Given the description of an element on the screen output the (x, y) to click on. 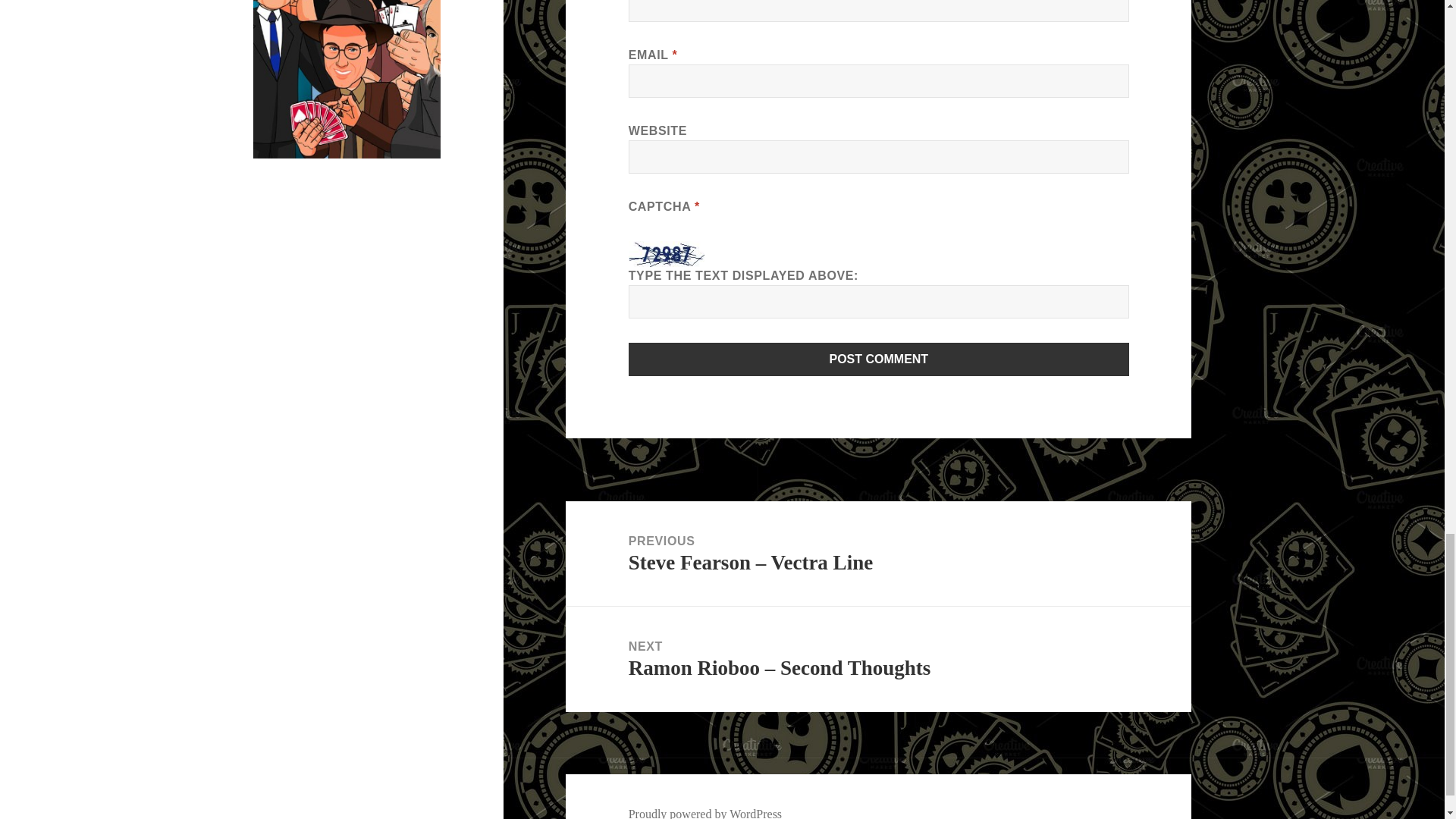
Post Comment (878, 359)
Proudly powered by WordPress (704, 813)
Penguin Live Act (347, 79)
Post Comment (878, 359)
